Given the description of an element on the screen output the (x, y) to click on. 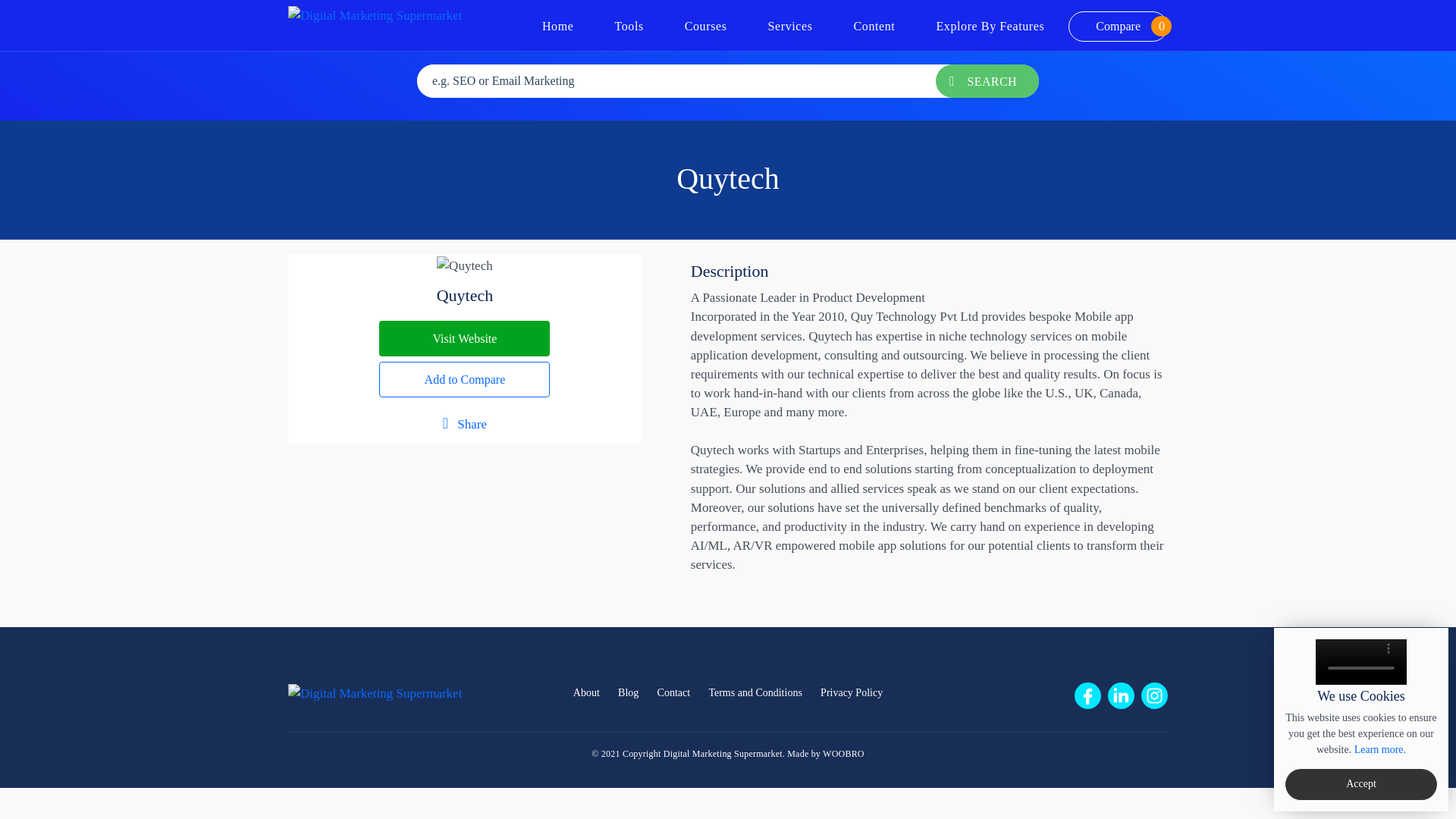
Facebook (1086, 694)
WordPress Agency London (843, 753)
WOOBRO (1117, 26)
SEARCH (843, 753)
Learn more. (987, 80)
Explore By Features (1380, 749)
Contact (989, 26)
Privacy Policy (673, 692)
Services (850, 692)
